Given the description of an element on the screen output the (x, y) to click on. 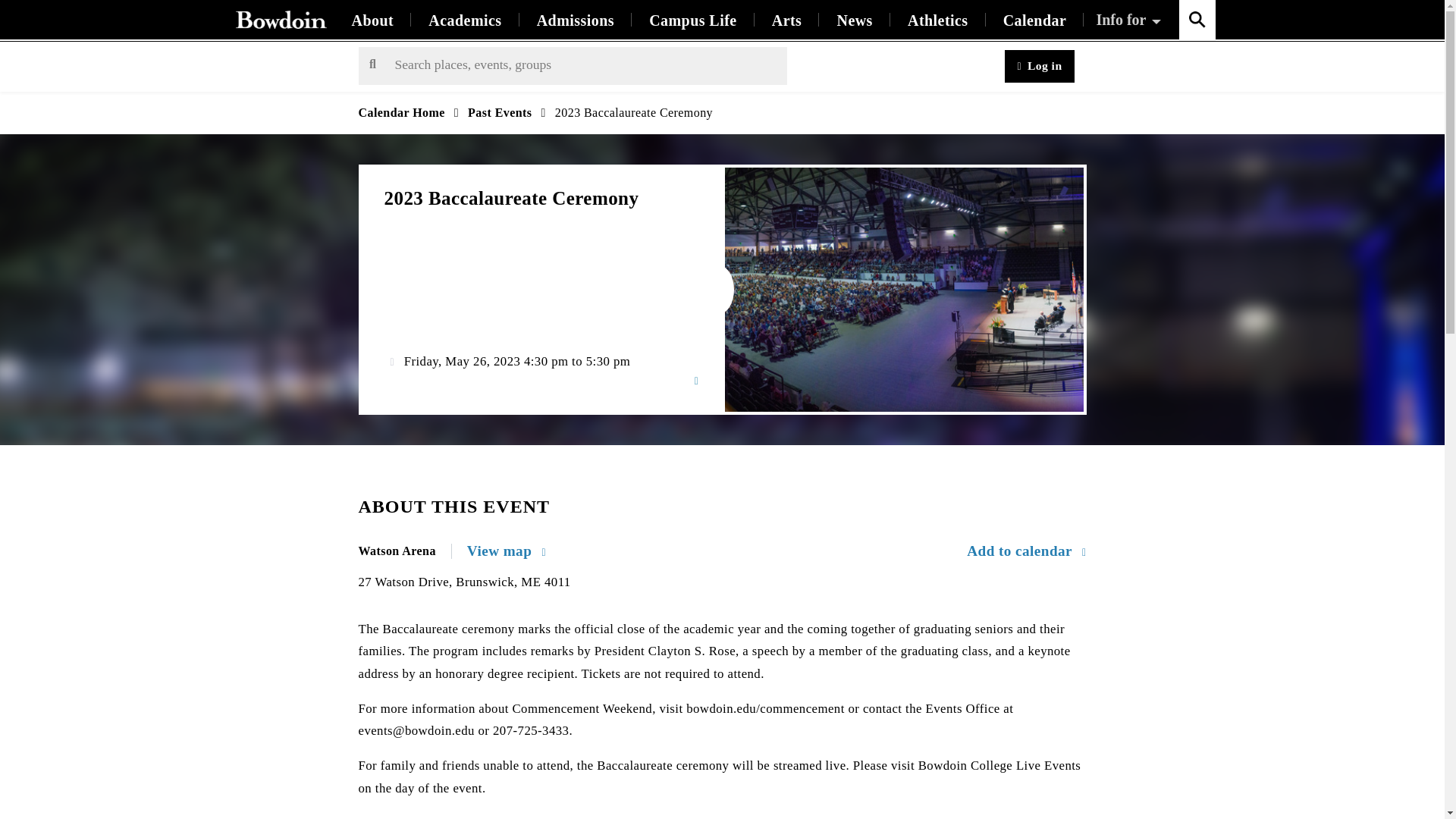
Past Events (499, 112)
Add to calendar (1026, 551)
Academics (464, 19)
About (371, 19)
Log in (1039, 65)
Athletics (937, 19)
Information For (1129, 19)
News (853, 19)
Campus Life (692, 19)
Calendar Home (401, 112)
Watson Arena (404, 550)
Arts (786, 19)
Admissions (575, 19)
Info for (1129, 19)
View map (506, 551)
